Given the description of an element on the screen output the (x, y) to click on. 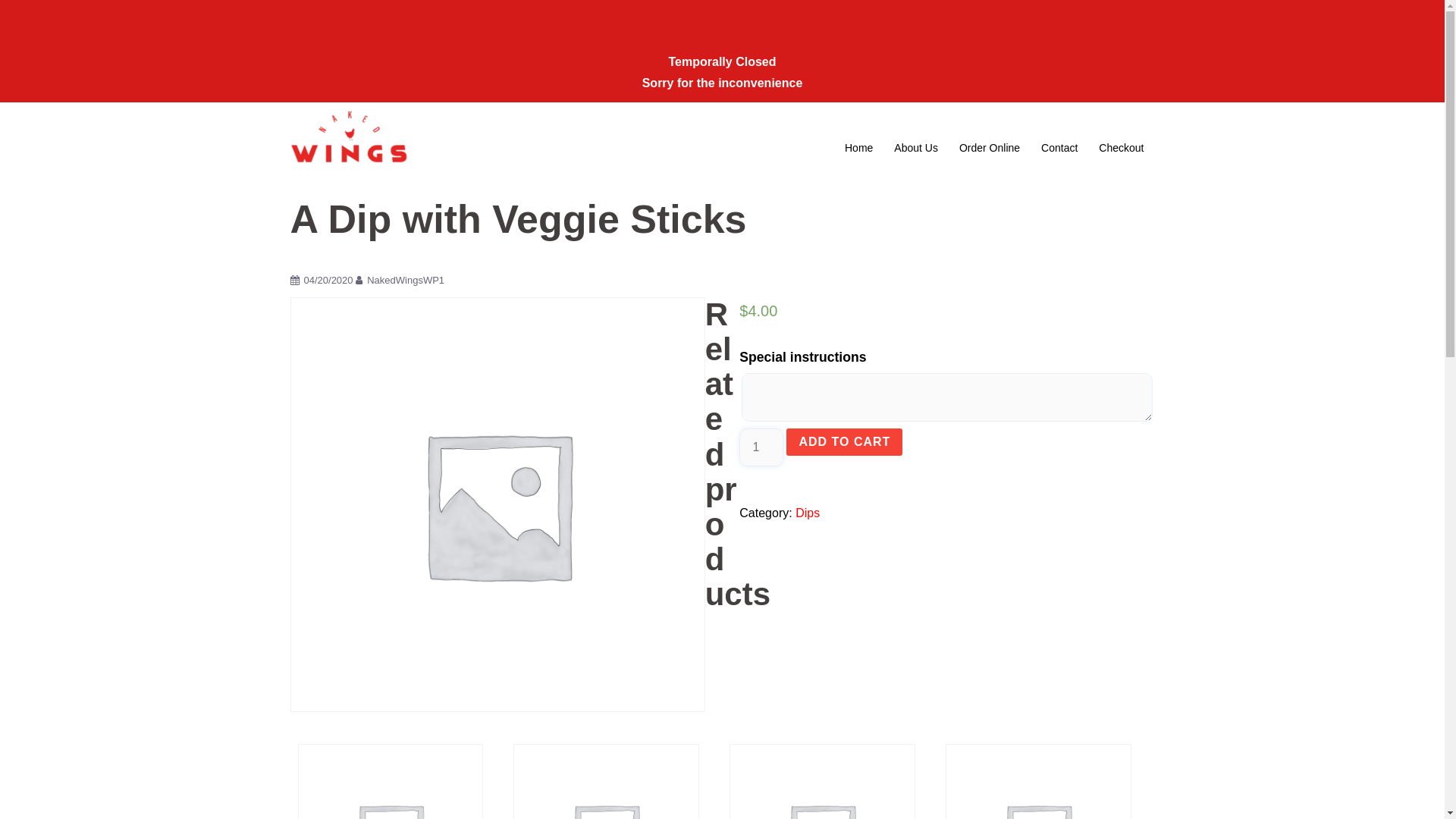
NakedWingsWP1 Element type: text (405, 279)
Contact Element type: text (1059, 147)
Dips Element type: text (807, 512)
Checkout Element type: text (1120, 147)
Order Online Element type: text (989, 147)
Naked Wings AU Element type: hover (348, 146)
ADD TO CART Element type: text (844, 441)
Qty Element type: hover (761, 447)
About Us Element type: text (916, 147)
Home Element type: text (858, 147)
04/20/2020 Element type: text (327, 279)
